Given the description of an element on the screen output the (x, y) to click on. 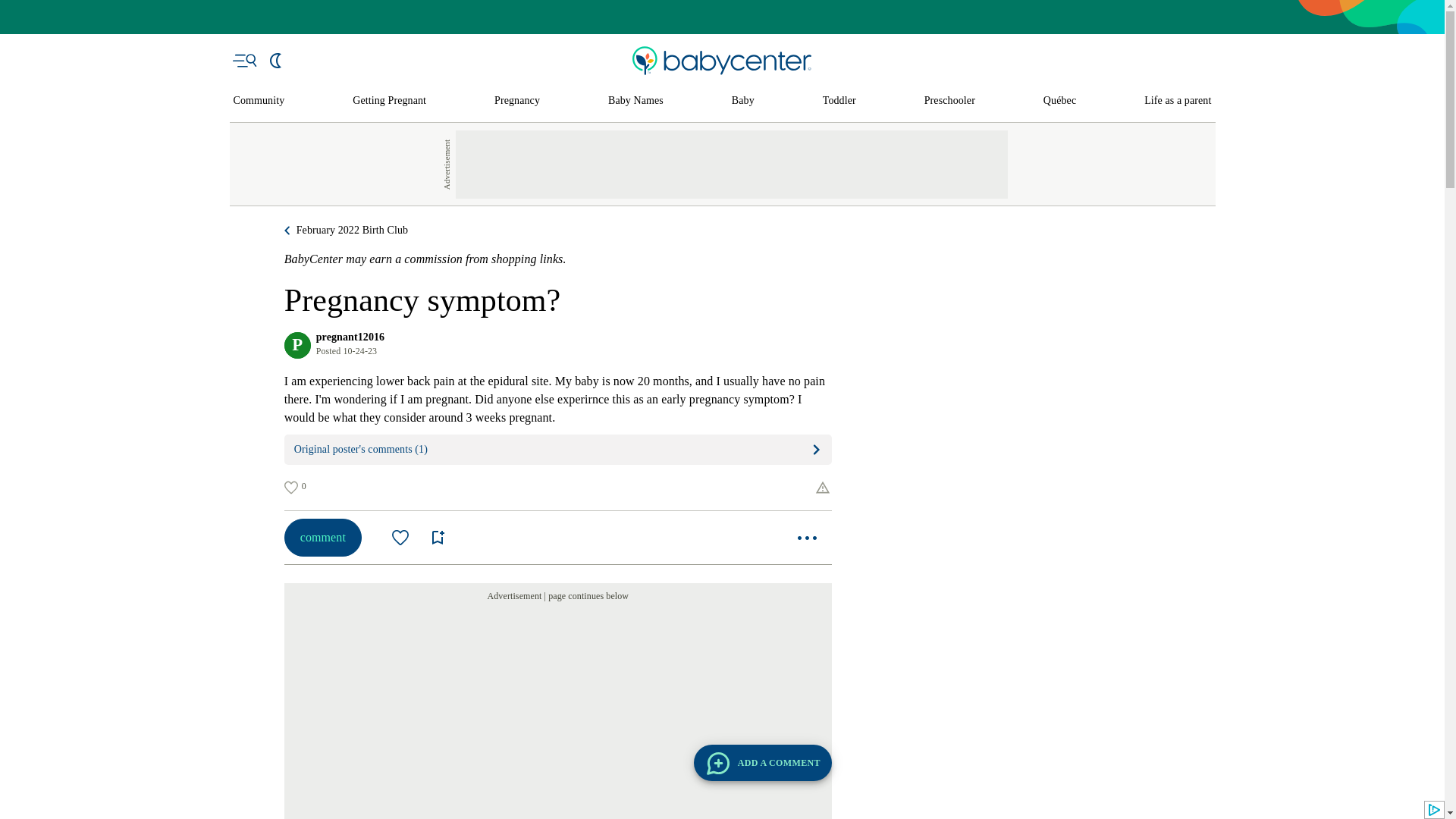
Baby (743, 101)
Pregnancy (517, 101)
Life as a parent (1177, 101)
Toddler (839, 101)
Preschooler (949, 101)
Community (258, 101)
Getting Pregnant (389, 101)
Baby Names (635, 101)
